Given the description of an element on the screen output the (x, y) to click on. 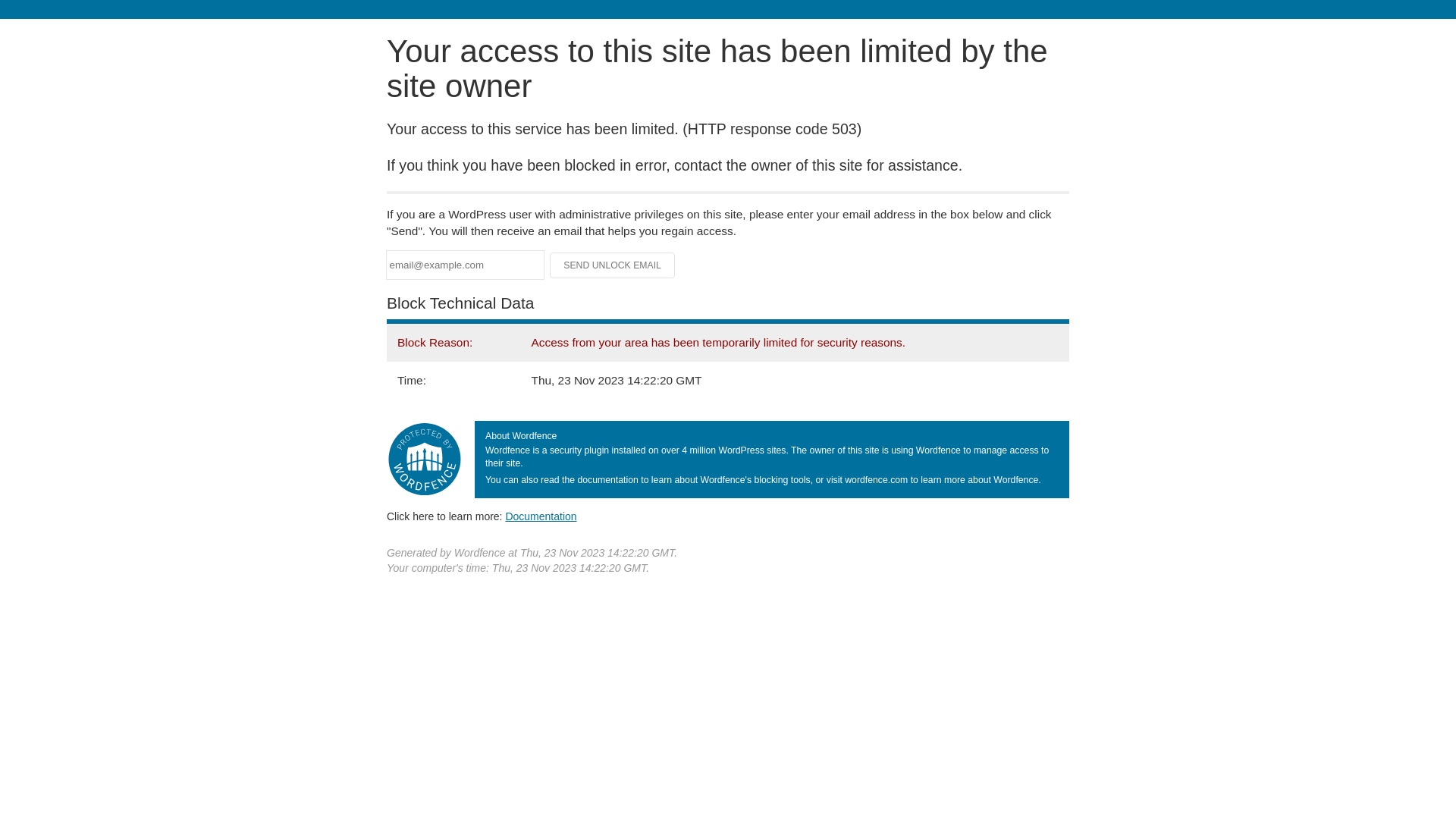
Send Unlock Email Element type: text (612, 265)
Documentation Element type: text (540, 516)
